Given the description of an element on the screen output the (x, y) to click on. 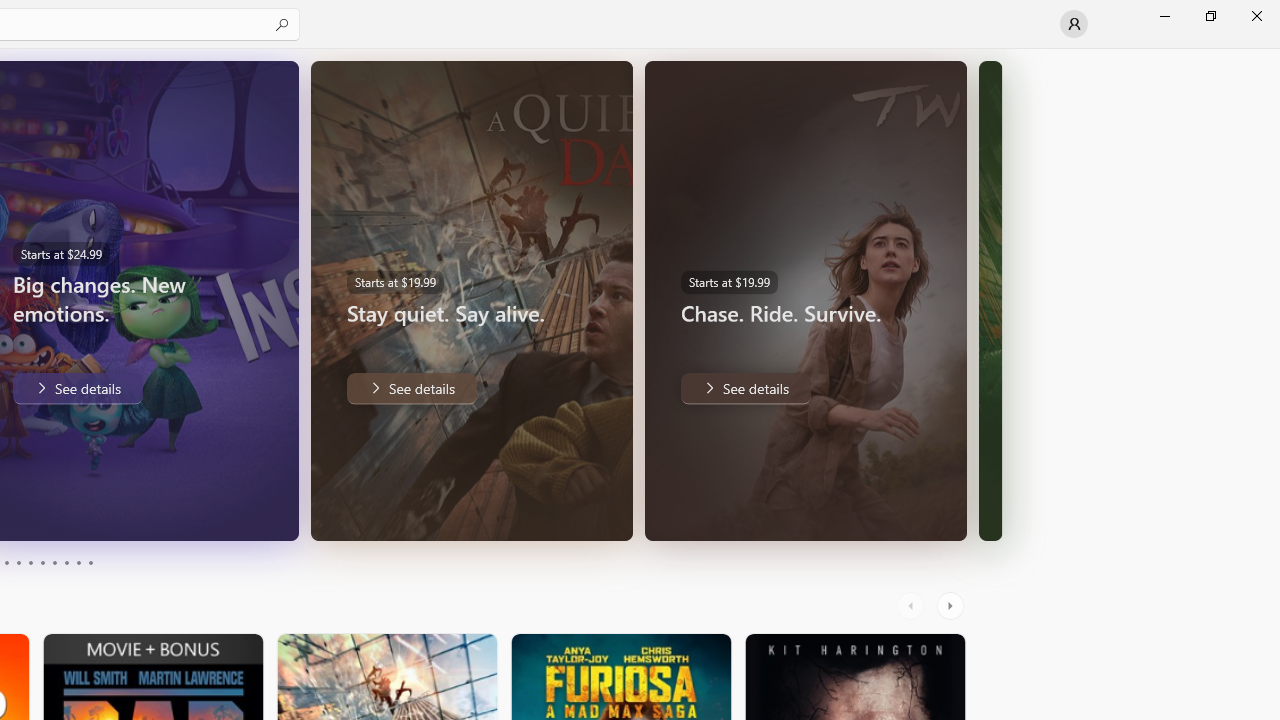
Close Microsoft Store (1256, 15)
Page 6 (41, 562)
Page 4 (17, 562)
